Given the description of an element on the screen output the (x, y) to click on. 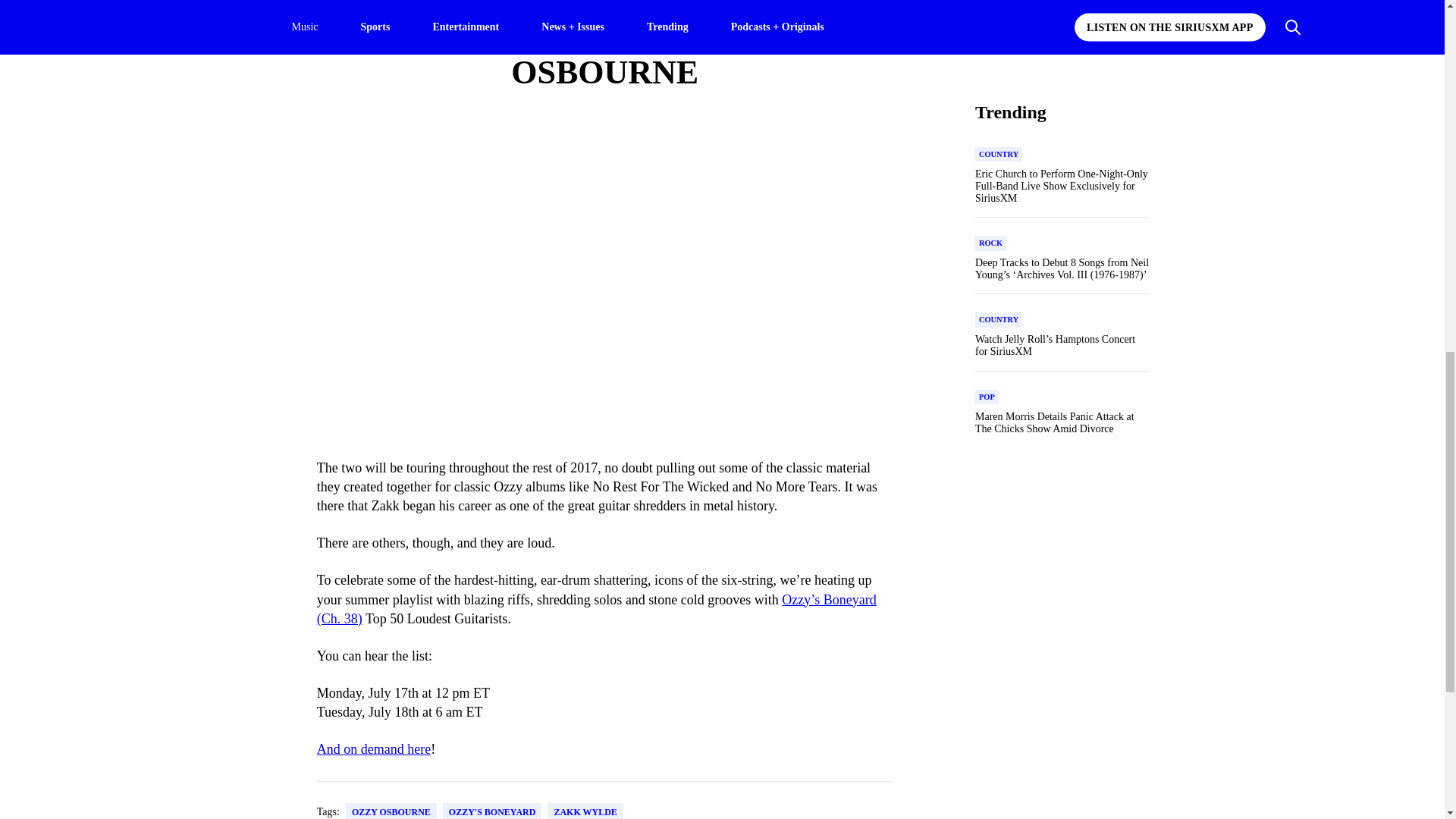
OZZY'S BONEYARD (491, 811)
And on demand here (373, 749)
OZZY OSBOURNE (391, 811)
ZAKK WYLDE (585, 811)
